Given the description of an element on the screen output the (x, y) to click on. 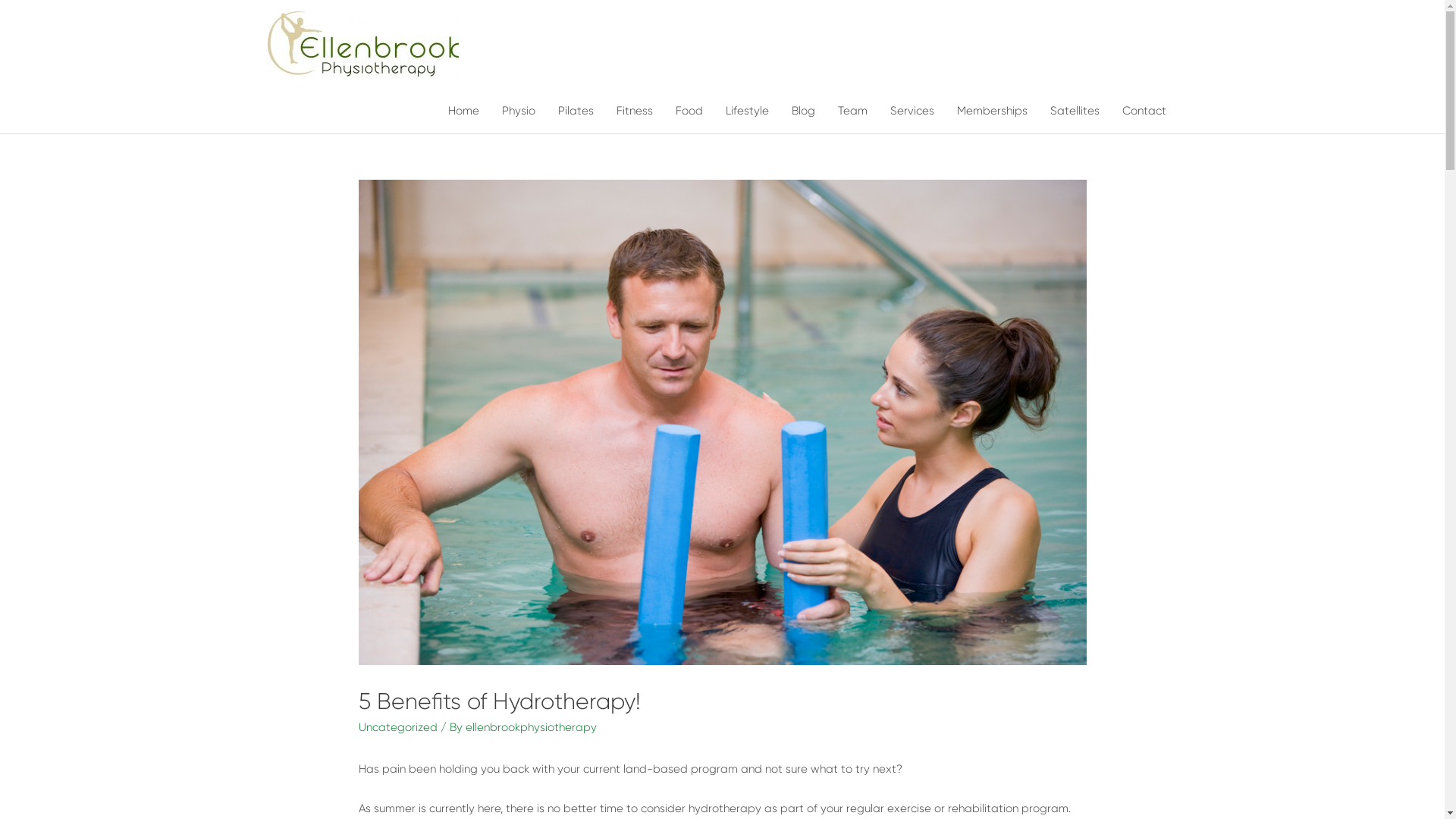
Uncategorized Element type: text (396, 727)
Services Element type: text (911, 110)
Lifestyle Element type: text (747, 110)
ellenbrookphysiotherapy Element type: text (530, 727)
Pilates Element type: text (575, 110)
Contact Element type: text (1143, 110)
Blog Element type: text (802, 110)
Physio Element type: text (517, 110)
Home Element type: text (463, 110)
Fitness Element type: text (634, 110)
Team Element type: text (852, 110)
Food Element type: text (689, 110)
Satellites Element type: text (1074, 110)
Memberships Element type: text (991, 110)
